Given the description of an element on the screen output the (x, y) to click on. 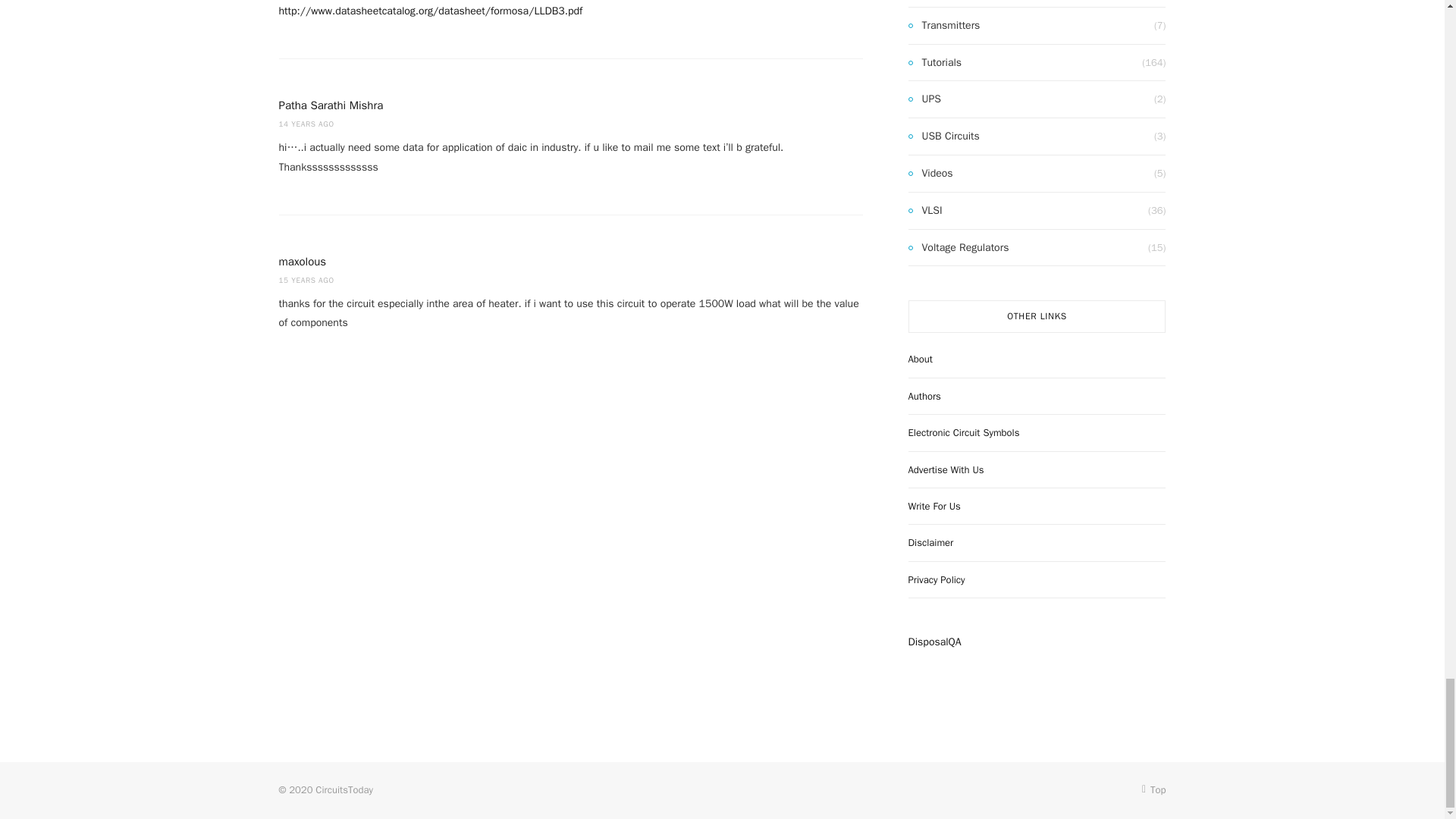
Topics on VLSI-Very Large Scale Integration (925, 210)
